Given the description of an element on the screen output the (x, y) to click on. 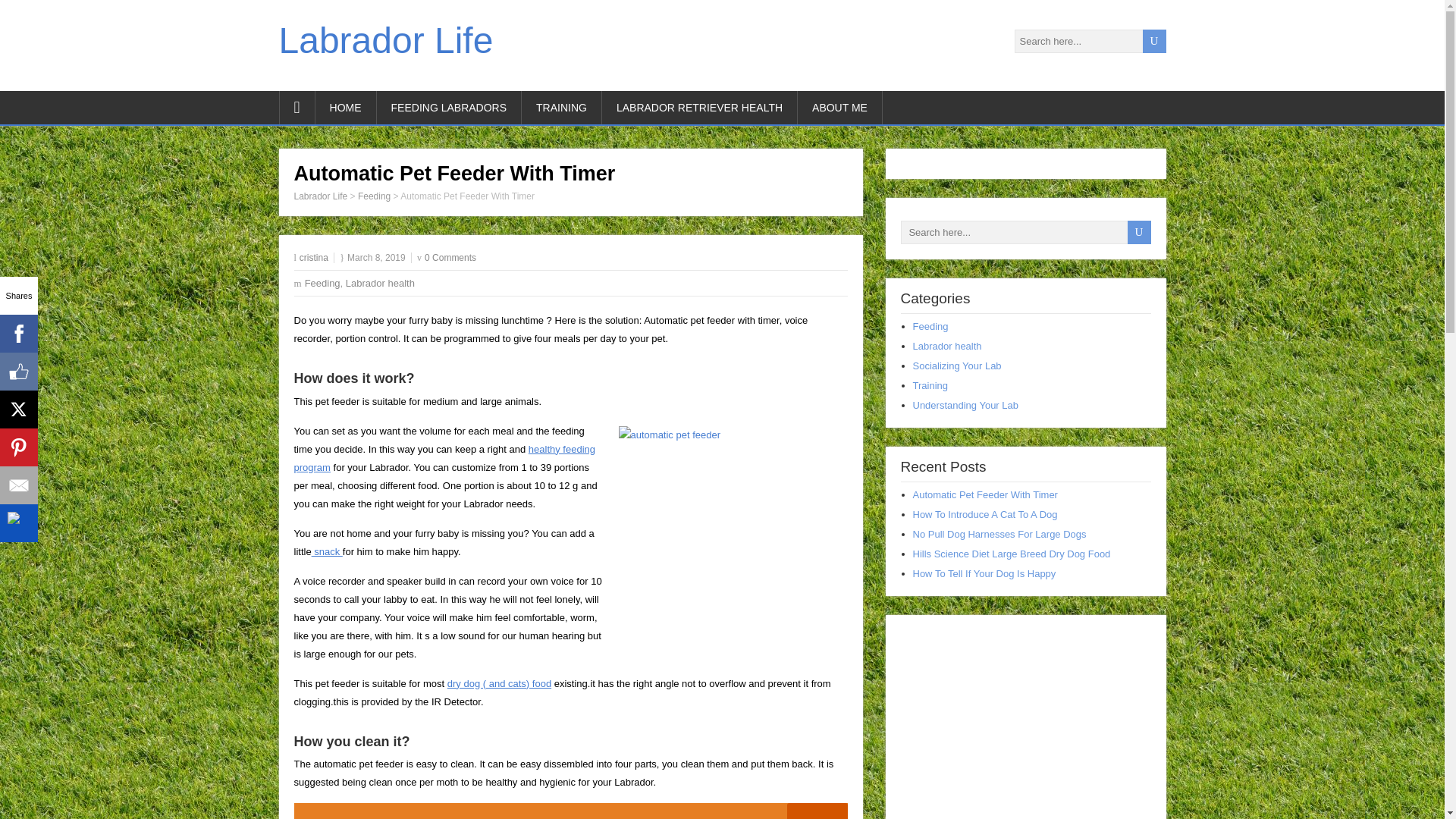
Training (929, 385)
Understanding Your Lab (965, 405)
Facebook (18, 333)
U (1153, 41)
Facebook Like (18, 371)
U (1153, 41)
Labrador health (380, 283)
Feeding (930, 326)
U (1138, 232)
X (18, 409)
healthy feeding program (444, 458)
How To Introduce A Cat To A Dog (985, 514)
SumoMe (18, 523)
Feeding (322, 283)
Labrador health (946, 346)
